Given the description of an element on the screen output the (x, y) to click on. 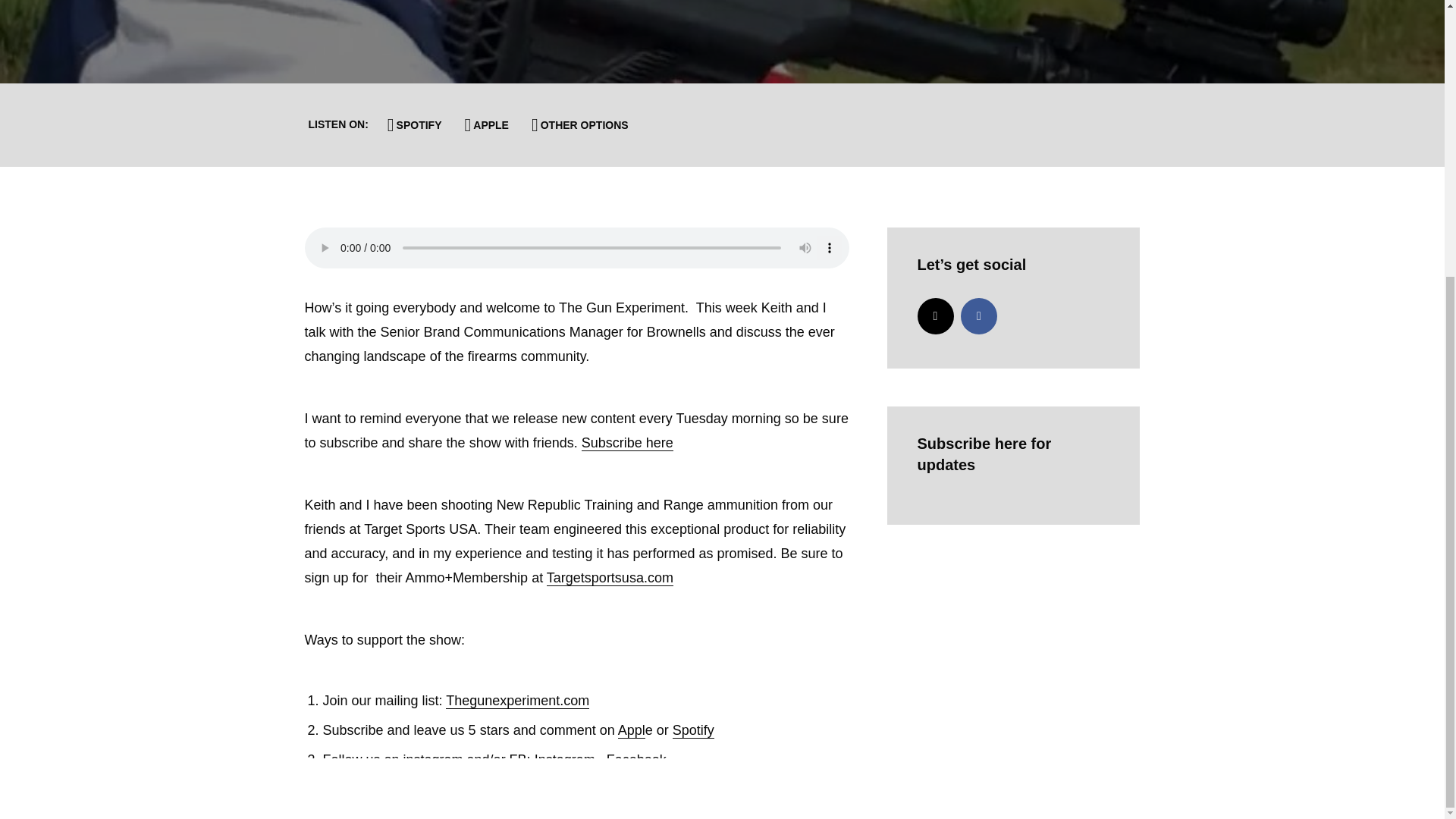
SPOTIFY (414, 124)
OTHER OPTIONS (580, 124)
Facebook (978, 316)
Instagram (935, 316)
Subscribe here (626, 442)
Thegunexperiment.com (517, 700)
Instagram (564, 760)
Targetsportsusa.com (609, 578)
APPLE (486, 124)
Appl (631, 730)
